Given the description of an element on the screen output the (x, y) to click on. 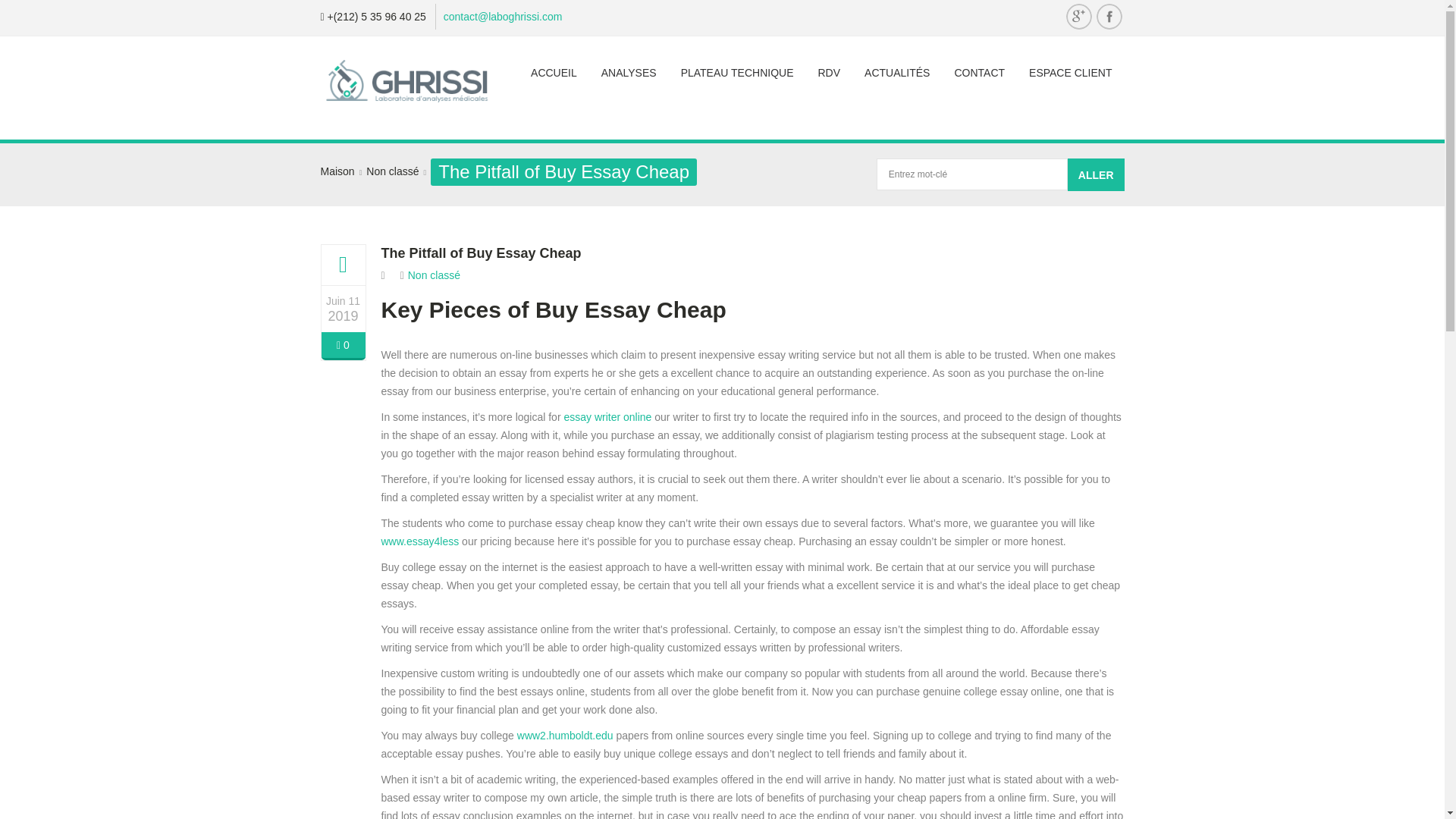
The Pitfall of Buy Essay Cheap (480, 253)
Aller (1095, 174)
PLATEAU TECHNIQUE (737, 72)
0 (343, 346)
RDV (828, 72)
ANALYSES (628, 72)
Maison (336, 171)
essay writer online (606, 417)
The Pitfall of Buy Essay Cheap (480, 253)
ACCUEIL (553, 72)
CONTACT (978, 72)
www2.humboldt.edu (564, 735)
Aller (1095, 174)
www.essay4less (419, 541)
Laboratoire Ghrissi (408, 87)
